Given the description of an element on the screen output the (x, y) to click on. 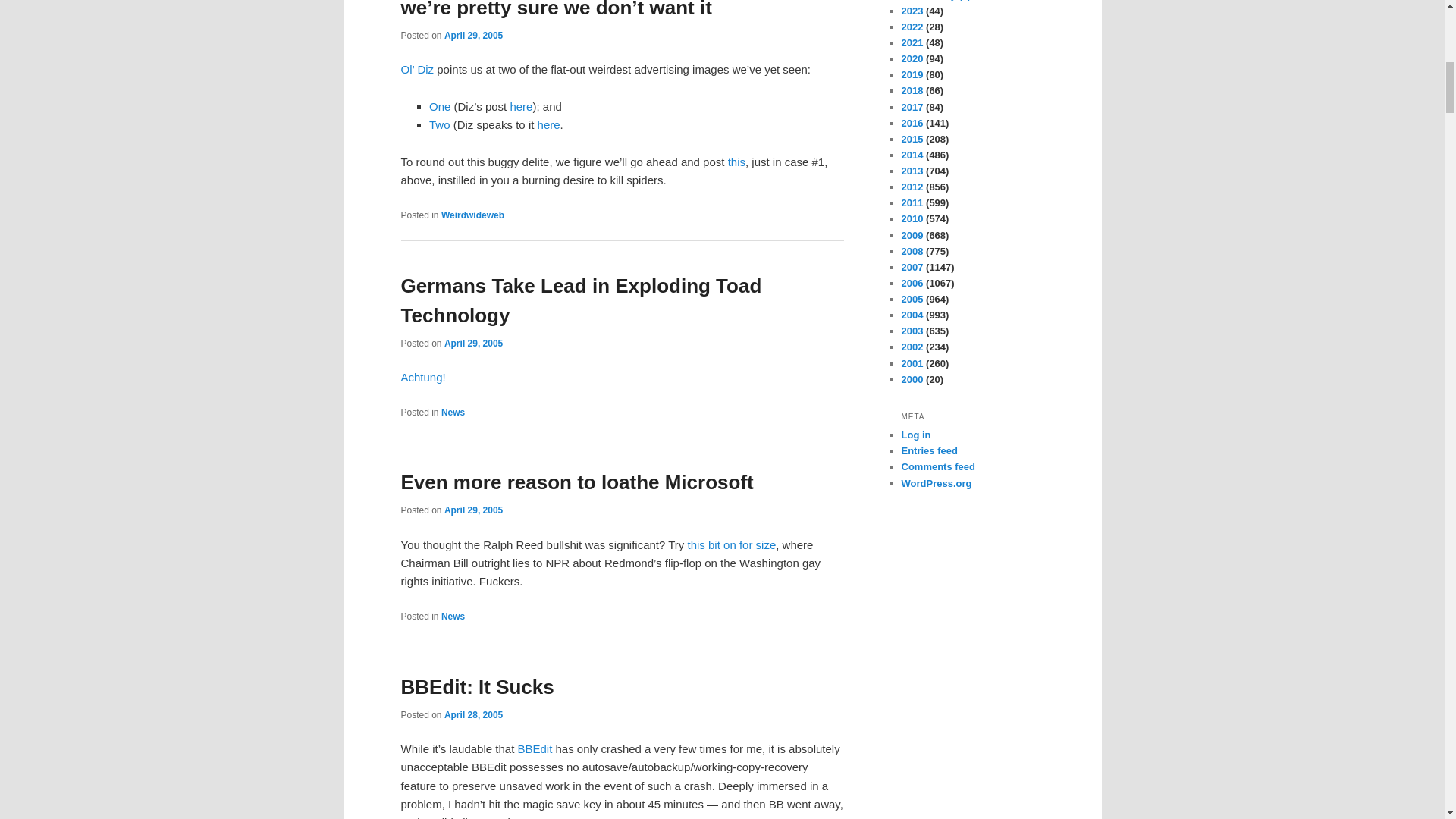
Permalink to Germans Take Lead in Exploding Toad Technology (580, 300)
April 29, 2005 (473, 510)
Permalink to Even more reason to loathe Microsoft (576, 481)
April 29, 2005 (473, 343)
April 28, 2005 (473, 715)
Germans Take Lead in Exploding Toad Technology (580, 300)
April 29, 2005 (473, 35)
here (548, 124)
News (452, 615)
Two (439, 124)
